Given the description of an element on the screen output the (x, y) to click on. 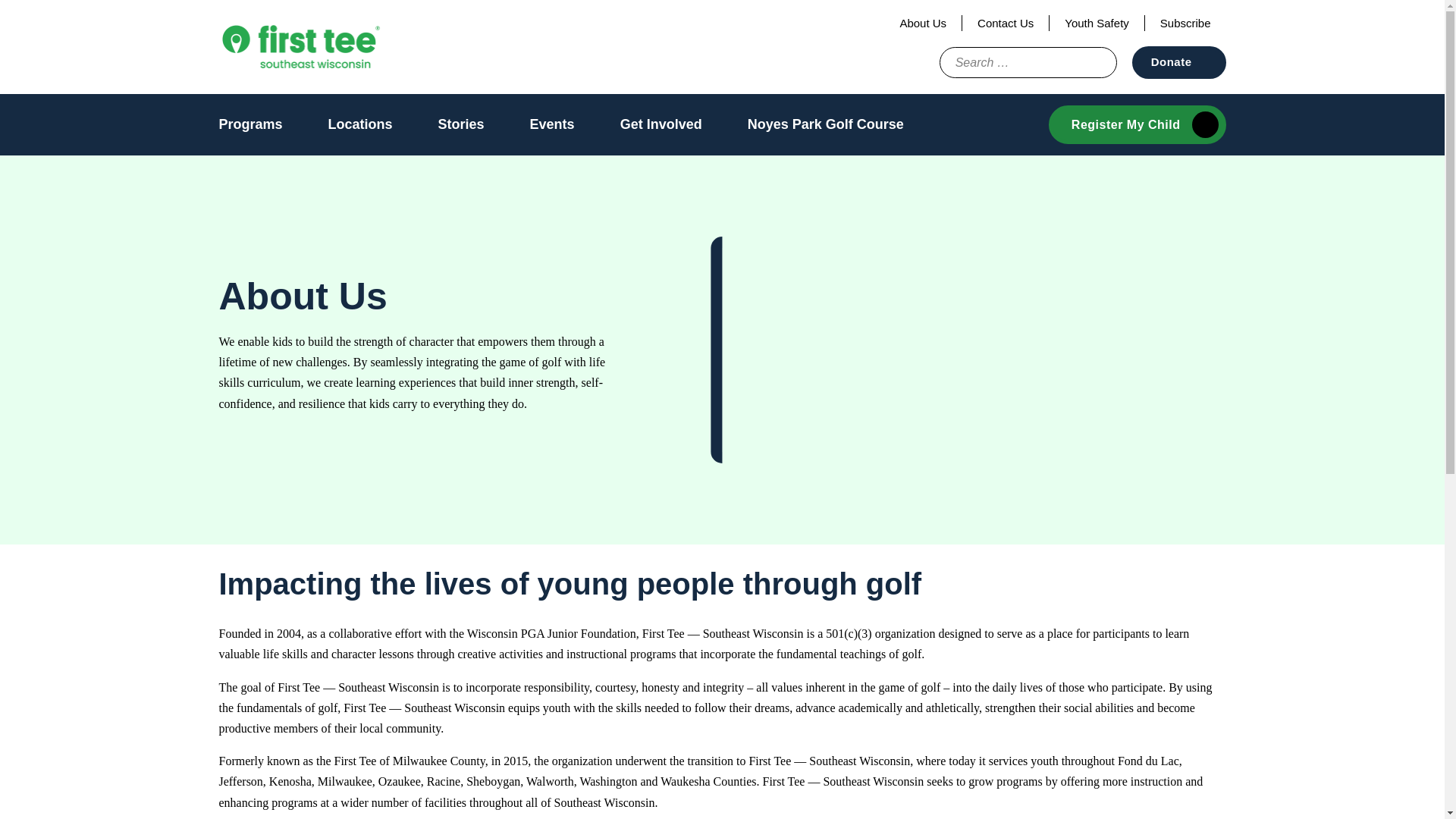
Contact Us (1005, 23)
About Us (921, 23)
Donate (1178, 61)
Search (1080, 61)
Events (552, 124)
Search (1080, 61)
Noyes Park Golf Course (826, 124)
Get Involved (660, 124)
Search (1080, 61)
Locations (361, 124)
Subscribe (1184, 23)
Youth Safety (1096, 23)
Stories (461, 124)
Register My Child (1136, 123)
